Given the description of an element on the screen output the (x, y) to click on. 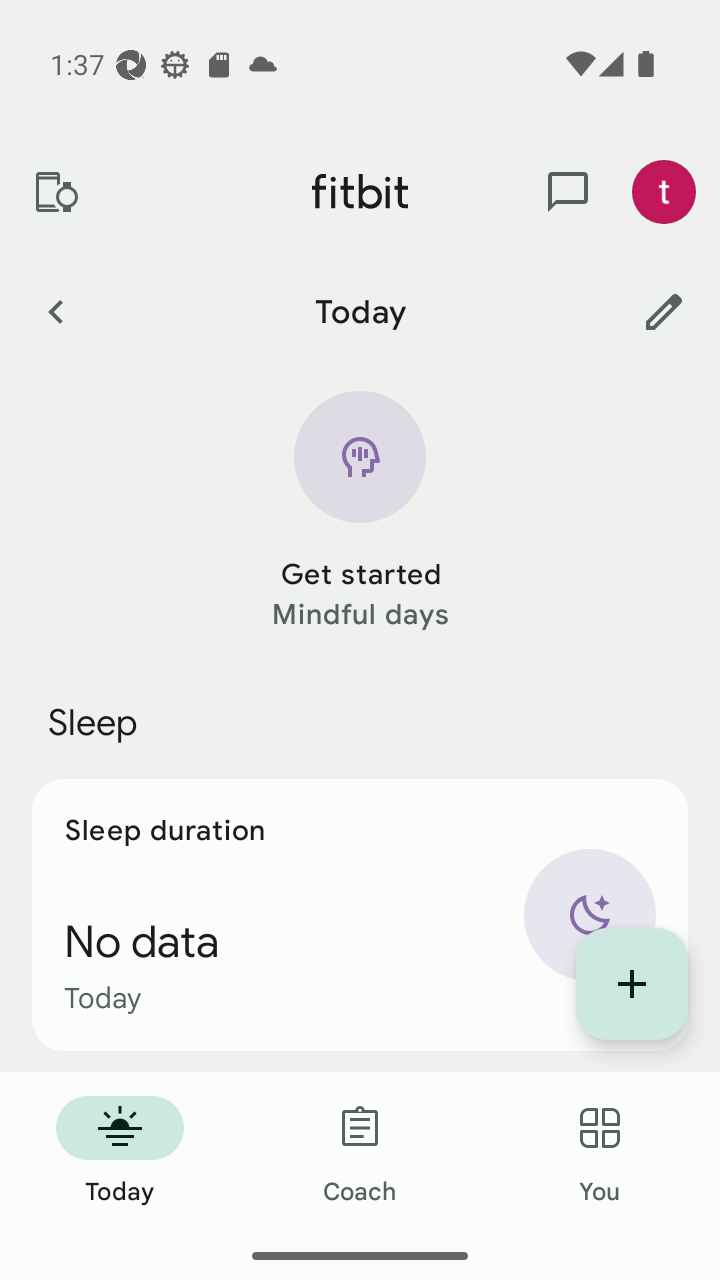
Devices and apps (55, 191)
messages and notifications (567, 191)
Previous Day (55, 311)
Customize (664, 311)
Mindfulness icon Get started Mindful days (360, 512)
Sleep duration No data Today Sleep static arc (359, 914)
Display list of quick log entries (632, 983)
Coach (359, 1151)
You (600, 1151)
